Given the description of an element on the screen output the (x, y) to click on. 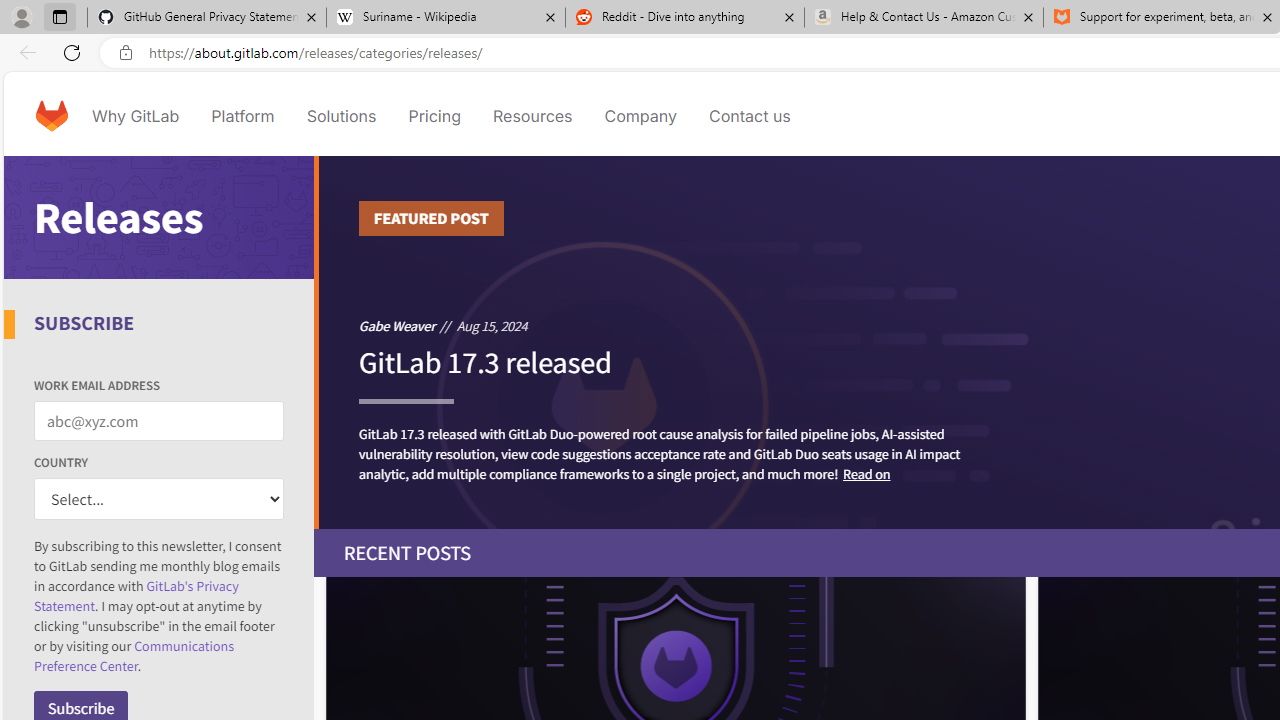
Resources (532, 115)
Platform (242, 115)
